Given the description of an element on the screen output the (x, y) to click on. 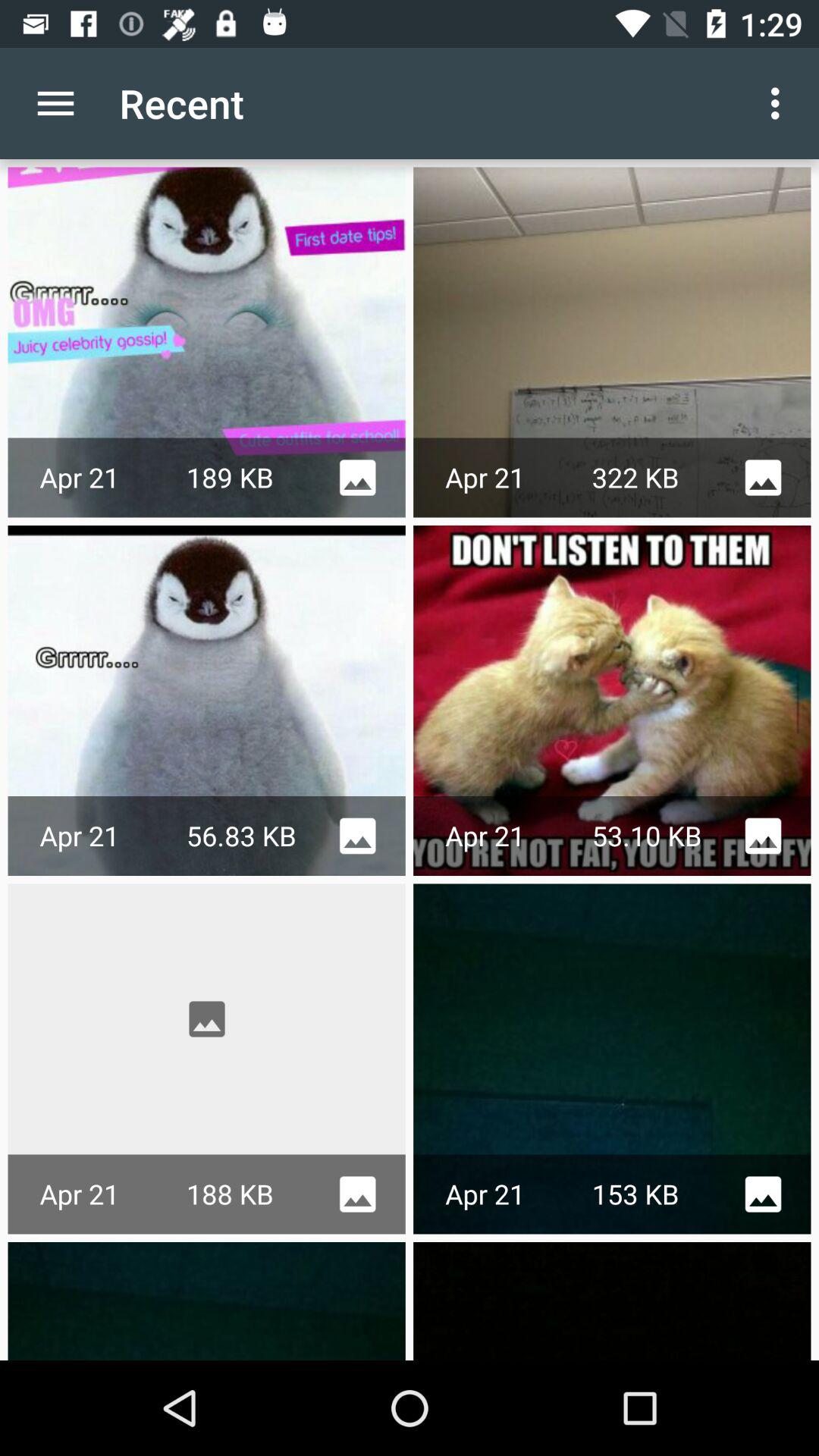
turn off item to the left of recent icon (55, 103)
